Given the description of an element on the screen output the (x, y) to click on. 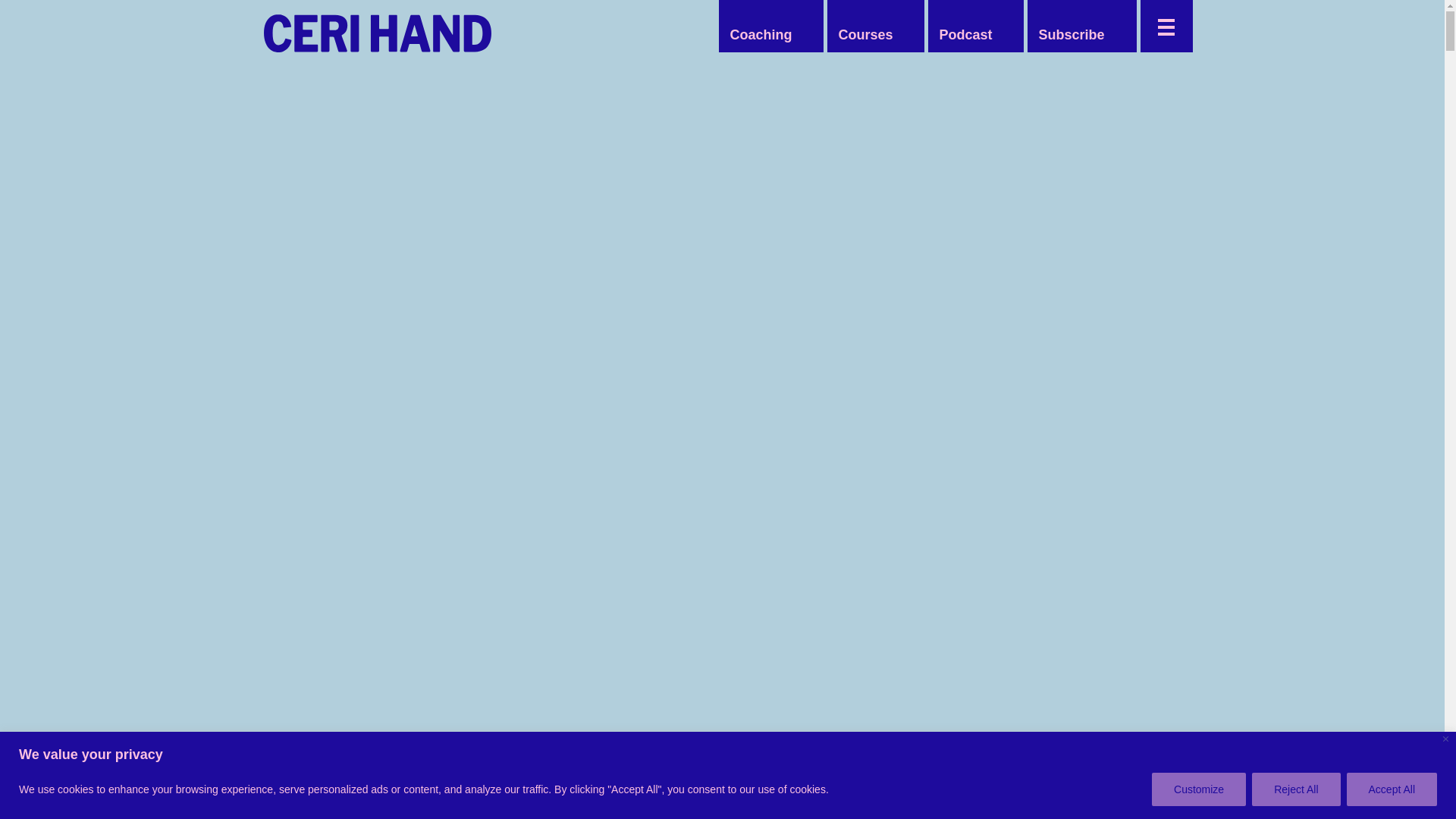
Courses (864, 34)
Accept All (1391, 788)
Podcast (964, 34)
Coaching (760, 34)
Subscribe (1070, 34)
Customize (1198, 788)
Reject All (1295, 788)
